Given the description of an element on the screen output the (x, y) to click on. 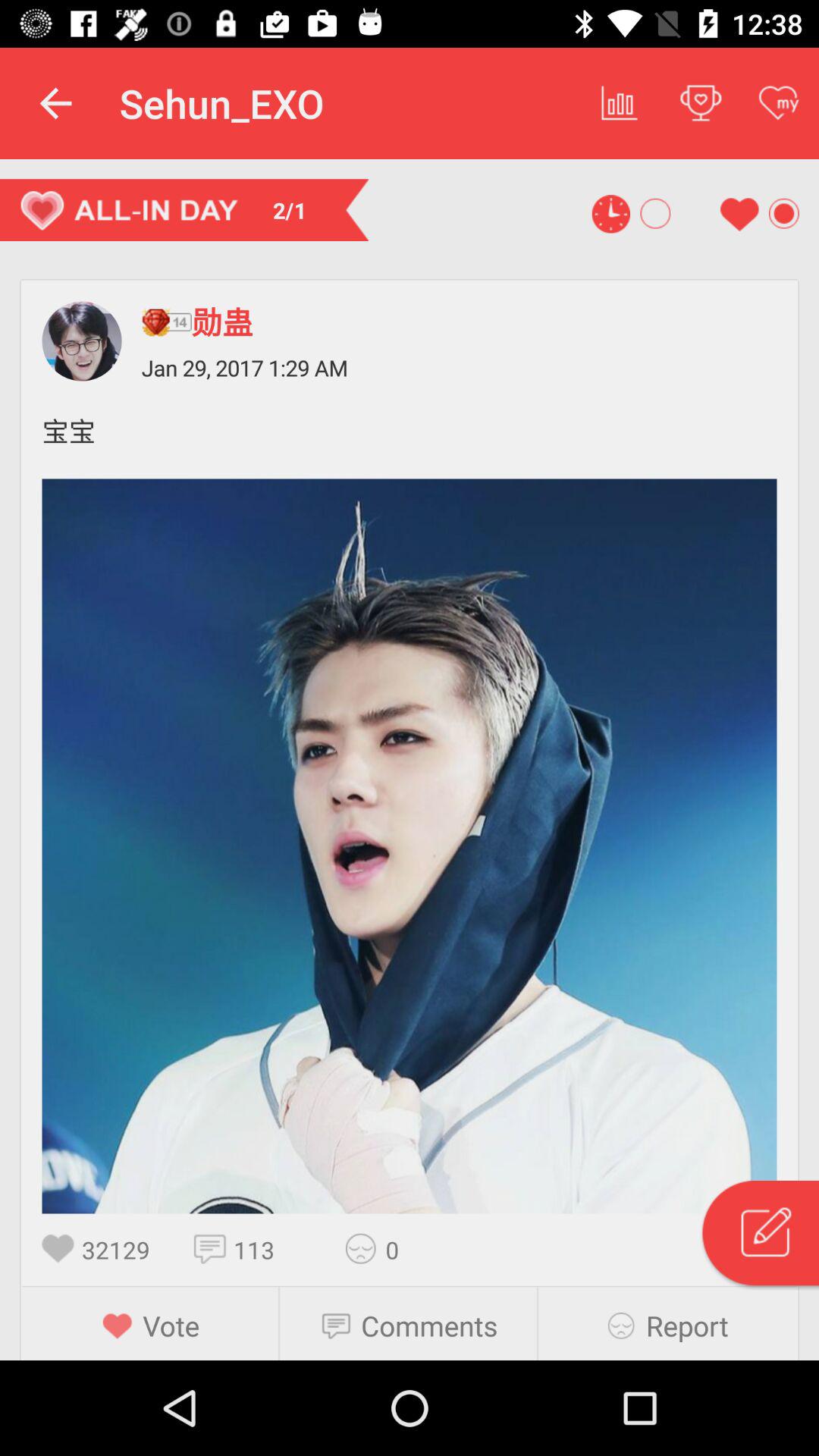
press the app to the left of sehun_exo icon (55, 103)
